Given the description of an element on the screen output the (x, y) to click on. 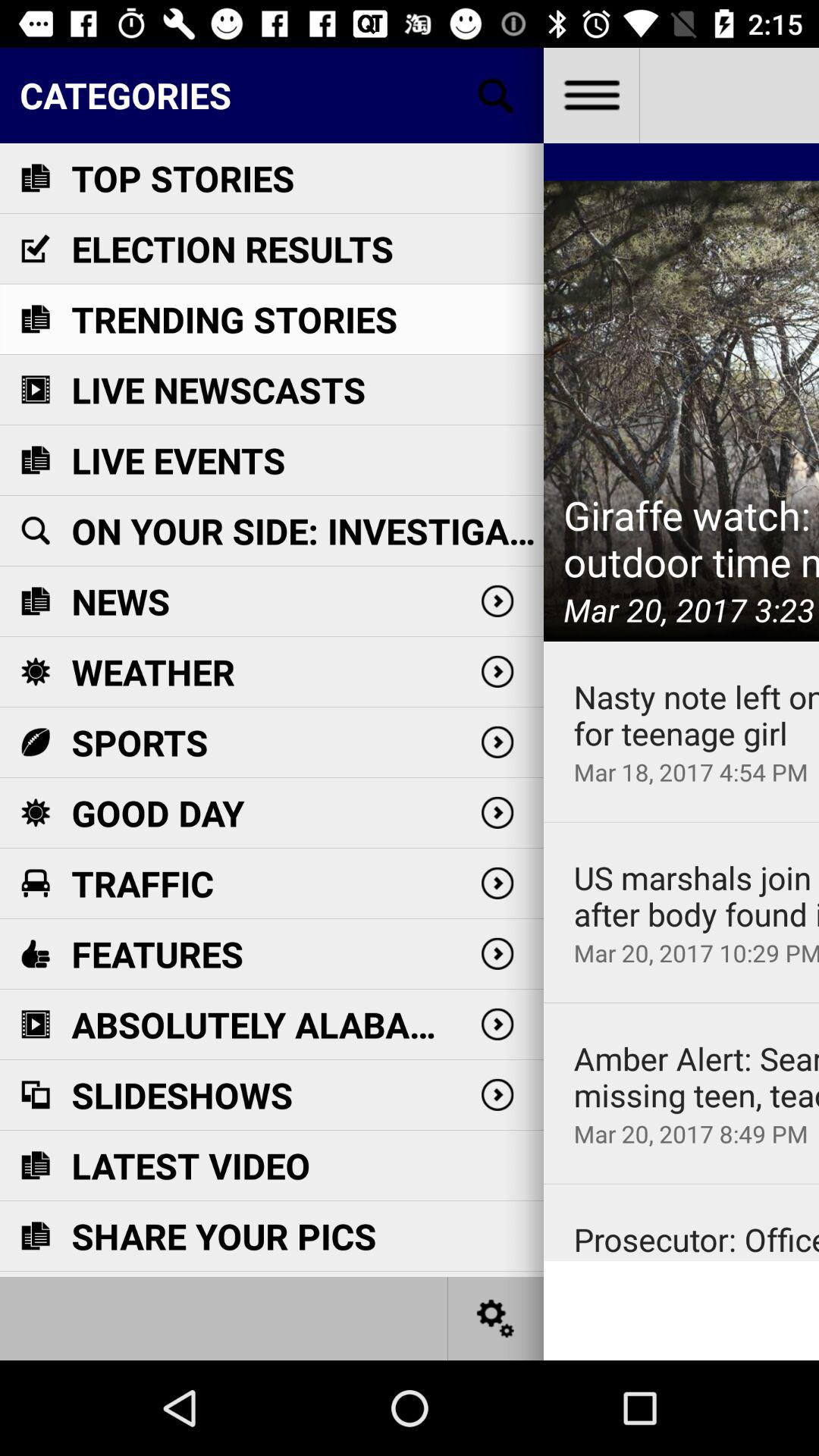
drop down menu (591, 95)
